Given the description of an element on the screen output the (x, y) to click on. 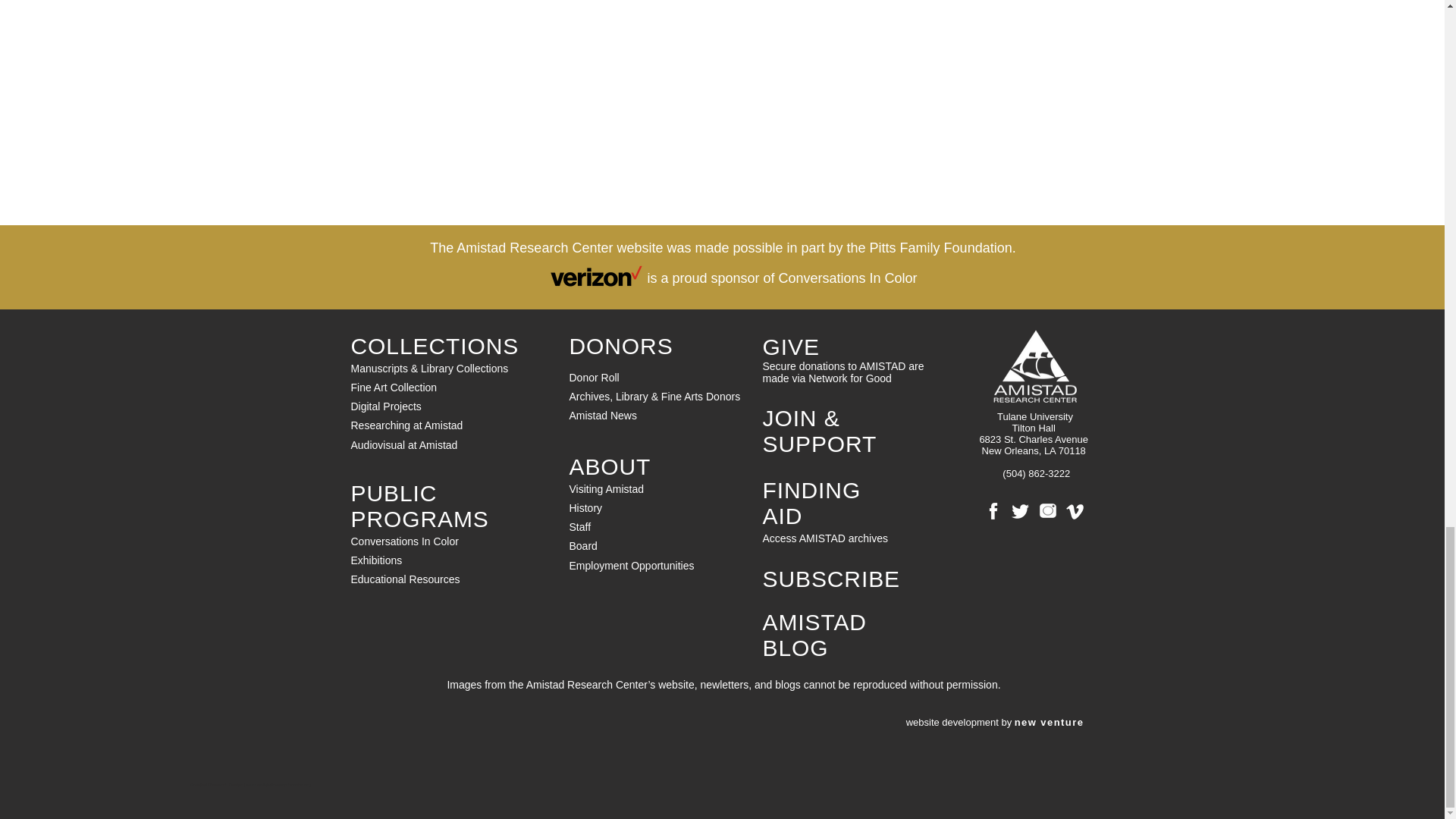
Exhibitions (375, 560)
DONORS (620, 345)
Researching at Amistad (406, 425)
Conversations In Color (404, 541)
History (585, 508)
Visiting Amistad (606, 489)
Donor Roll (593, 377)
ABOUT (609, 466)
Digital Projects (393, 415)
Educational Resources (405, 579)
